Given the description of an element on the screen output the (x, y) to click on. 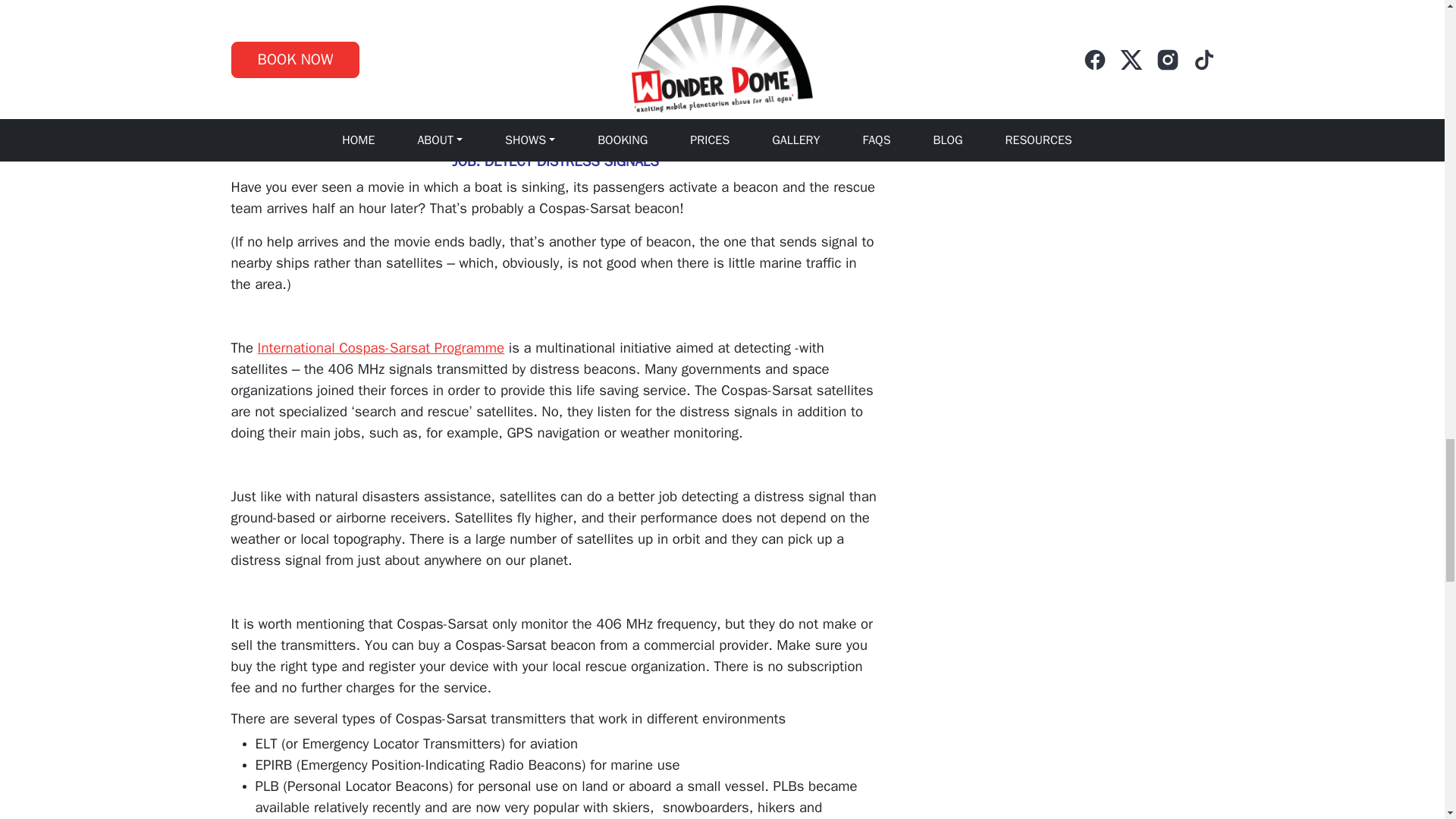
International Cospas-Sarsat Programme (381, 348)
Saving lives when disasters strike (420, 52)
